Given the description of an element on the screen output the (x, y) to click on. 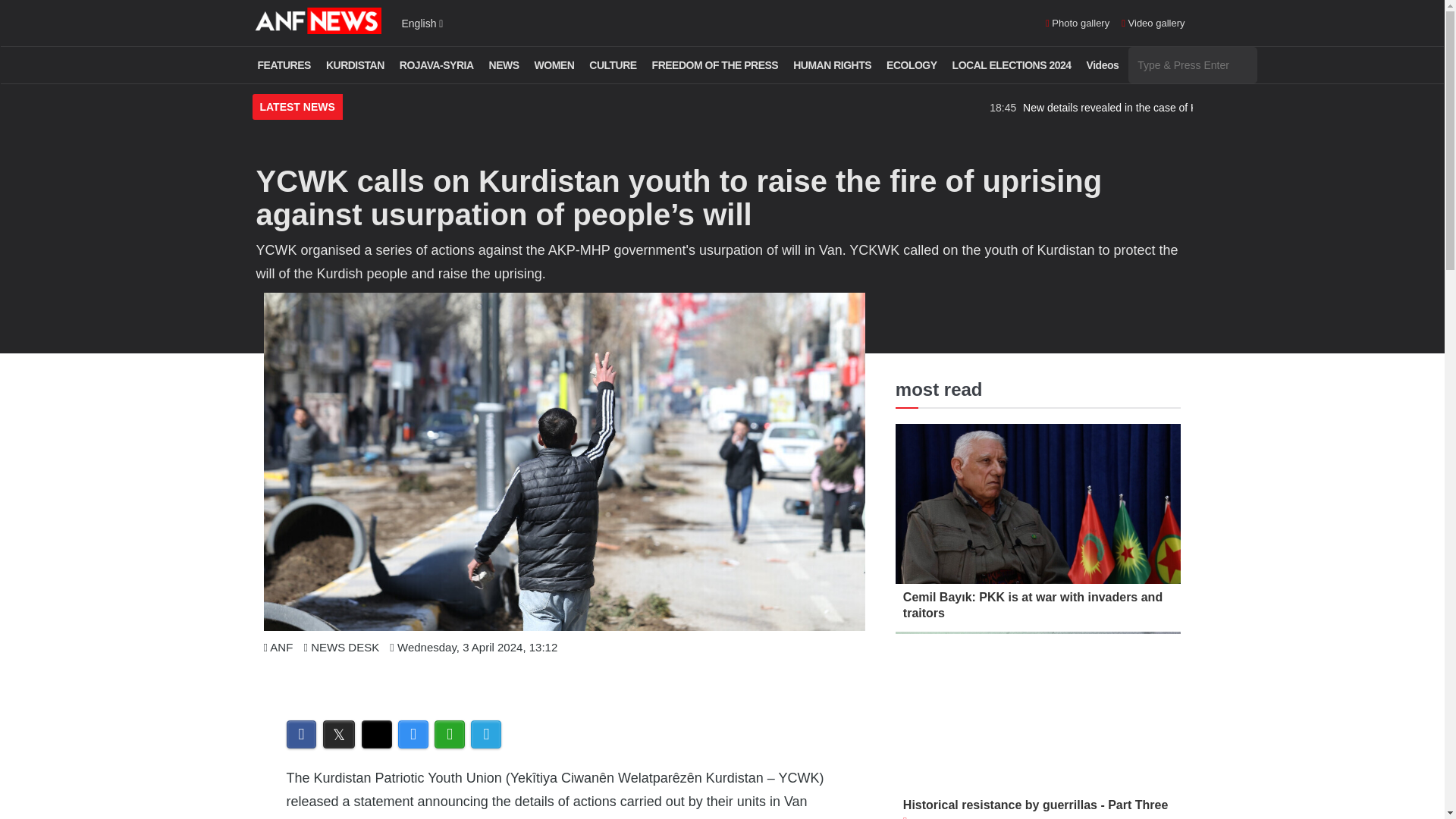
Photo gallery (1077, 24)
WOMEN (554, 64)
FEATURES (283, 64)
LOCAL ELECTIONS 2024 (1012, 64)
HUMAN RIGHTS (831, 64)
CULTURE (612, 64)
KURDISTAN (355, 64)
Videos (1102, 64)
Video gallery (1152, 24)
ROJAVA-SYRIA (436, 64)
LATEST NEWS (296, 107)
ECOLOGY (911, 64)
English (422, 23)
FREEDOM OF THE PRESS (715, 64)
NEWS (503, 64)
